Given the description of an element on the screen output the (x, y) to click on. 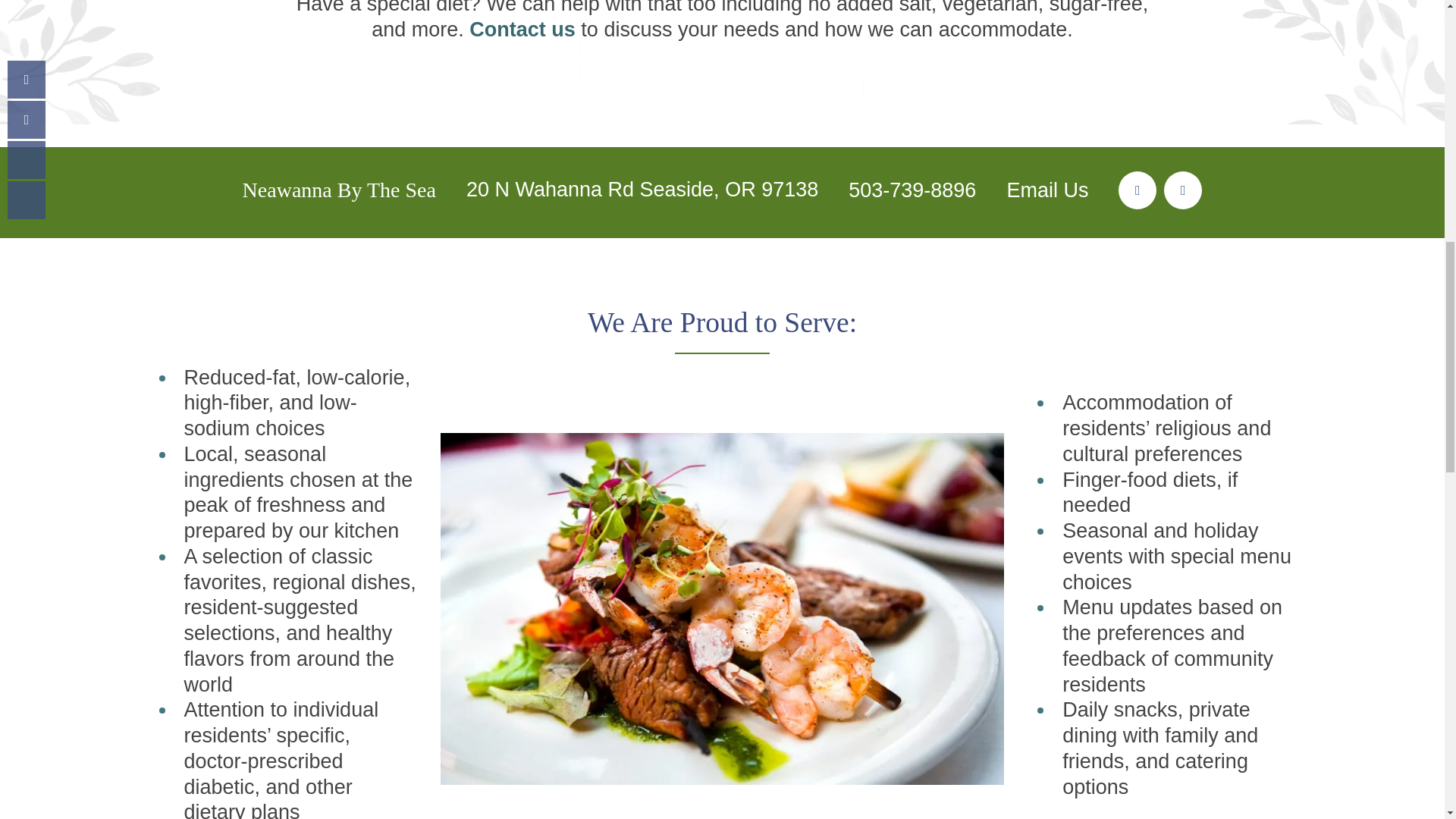
503-739-8896 (911, 190)
Property Phone Number (911, 190)
Contact us (521, 29)
Google My Business (1182, 190)
Email Us (1046, 190)
20 N Wahanna Rd Seaside, OR 97138 (641, 190)
Facebook (1137, 190)
